Given the description of an element on the screen output the (x, y) to click on. 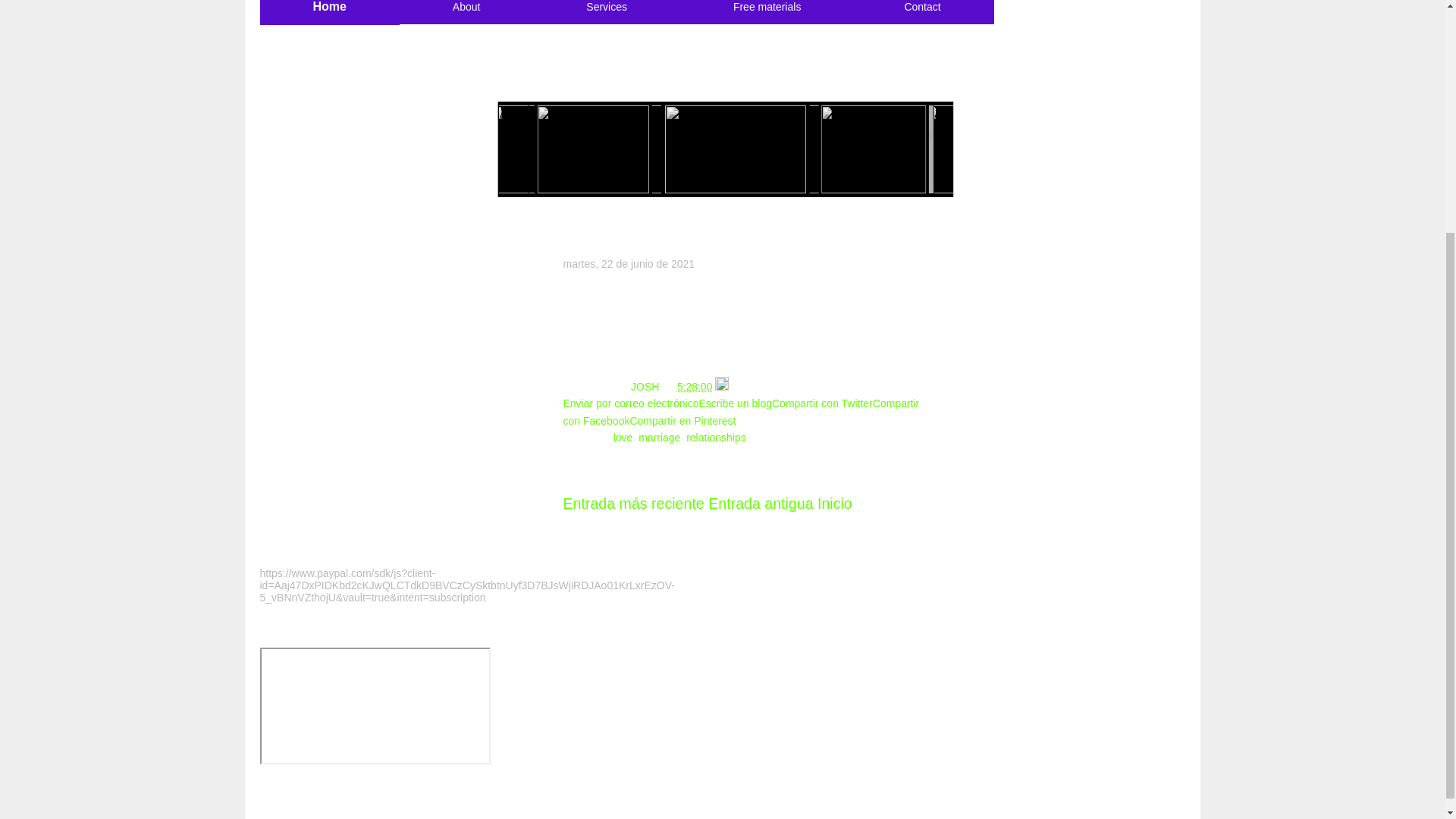
Compartir en Pinterest (681, 420)
JOSH (646, 386)
Compartir con Facebook (740, 411)
relationships (715, 437)
permanent link (695, 386)
Escribe un blog (734, 403)
Escribe un blog (734, 403)
Compartir en Pinterest (681, 420)
Compartir con Facebook (740, 411)
Compartir con Twitter (821, 403)
Entrada antigua (759, 503)
Home (329, 6)
Compartir con Twitter (821, 403)
love (622, 437)
5:28:00 (695, 386)
